Given the description of an element on the screen output the (x, y) to click on. 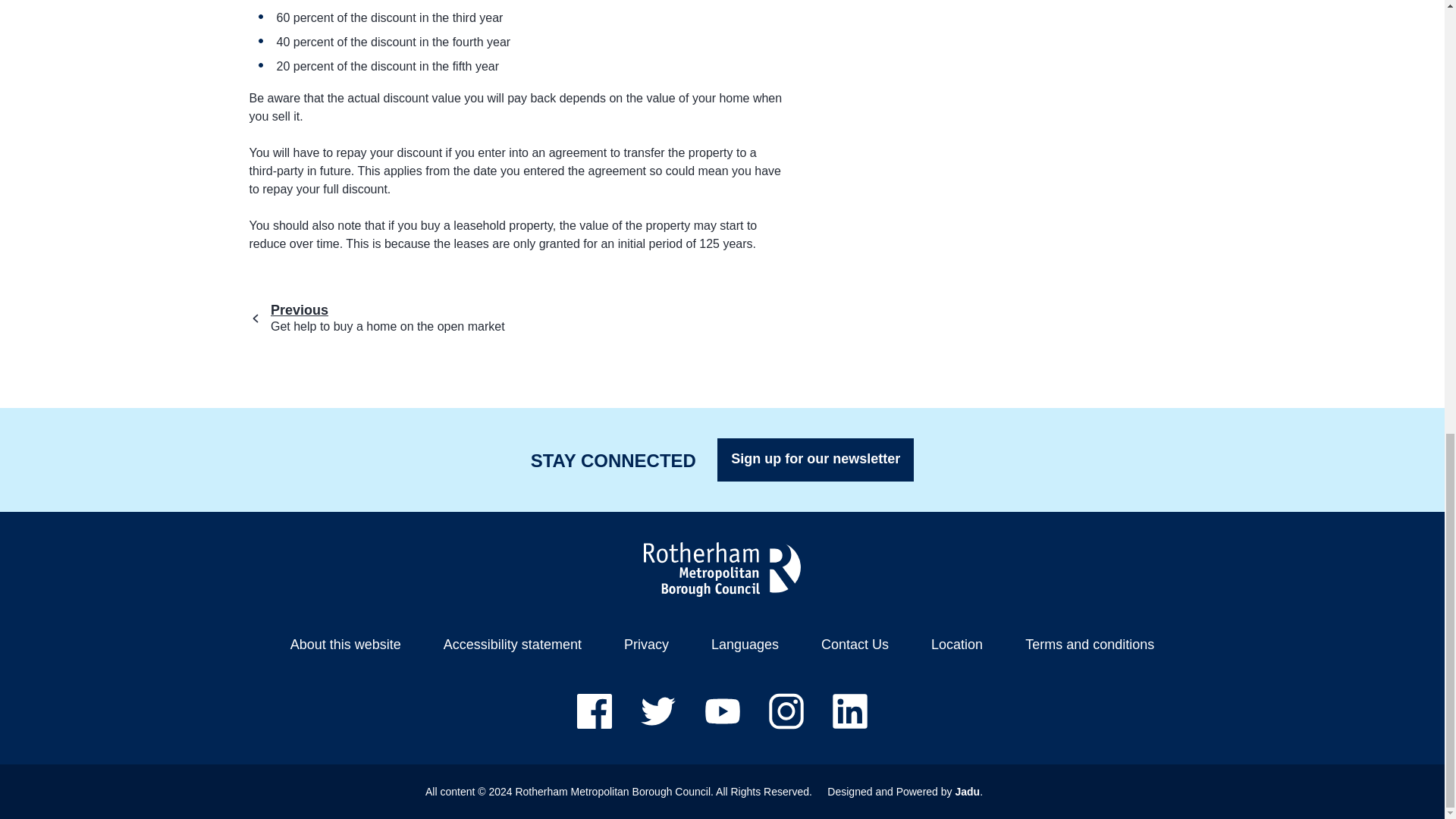
Rotherham Metropolitan Borough Council Home Page (721, 569)
Accessibility statement (512, 644)
About this website (345, 644)
Sign up for our newsletter (815, 459)
Privacy (646, 644)
